Given the description of an element on the screen output the (x, y) to click on. 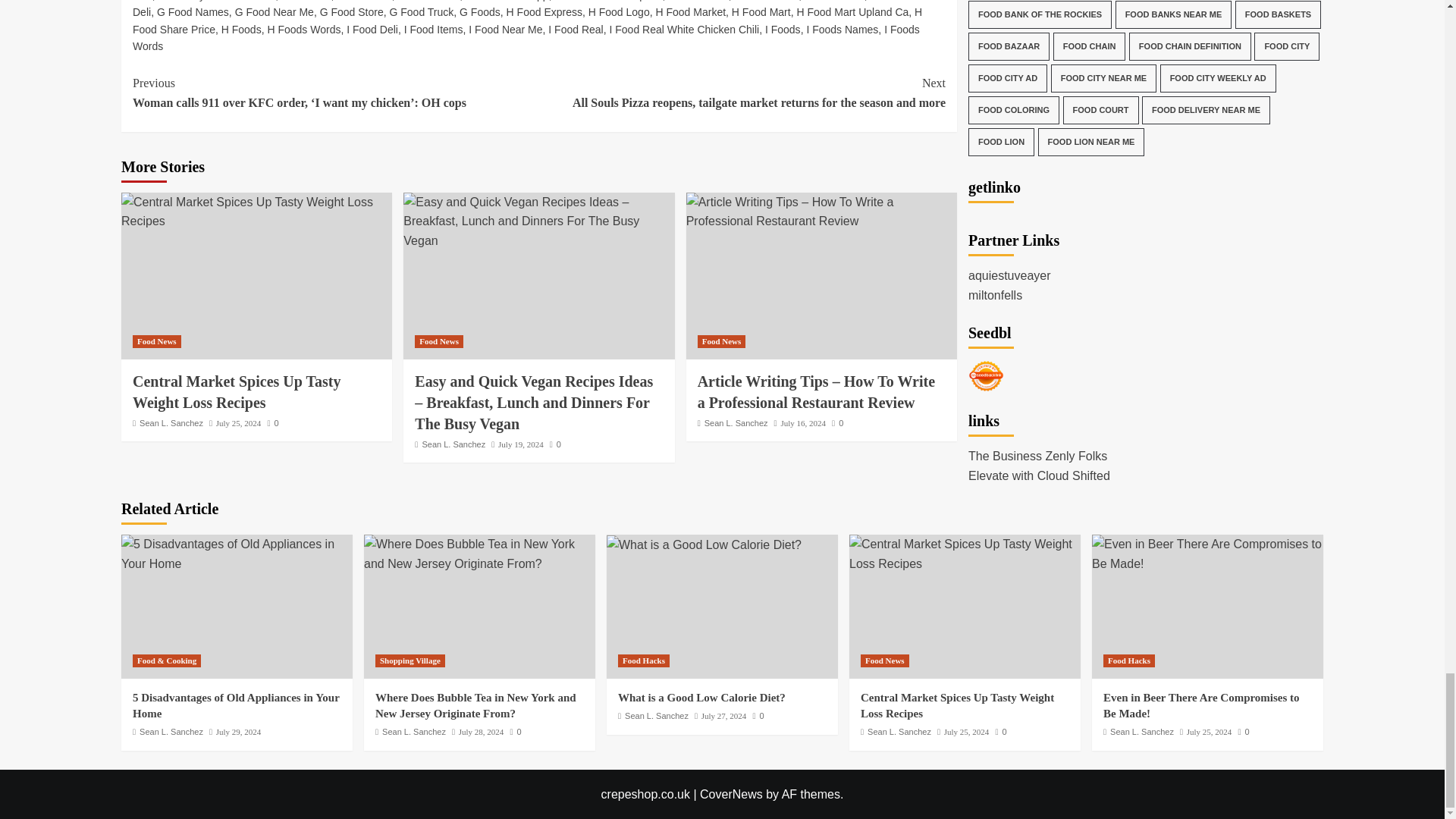
5 Disadvantages of Old Appliances in Your Home (236, 553)
Central Market Spices Up Tasty Weight Loss Recipes (255, 211)
